Given the description of an element on the screen output the (x, y) to click on. 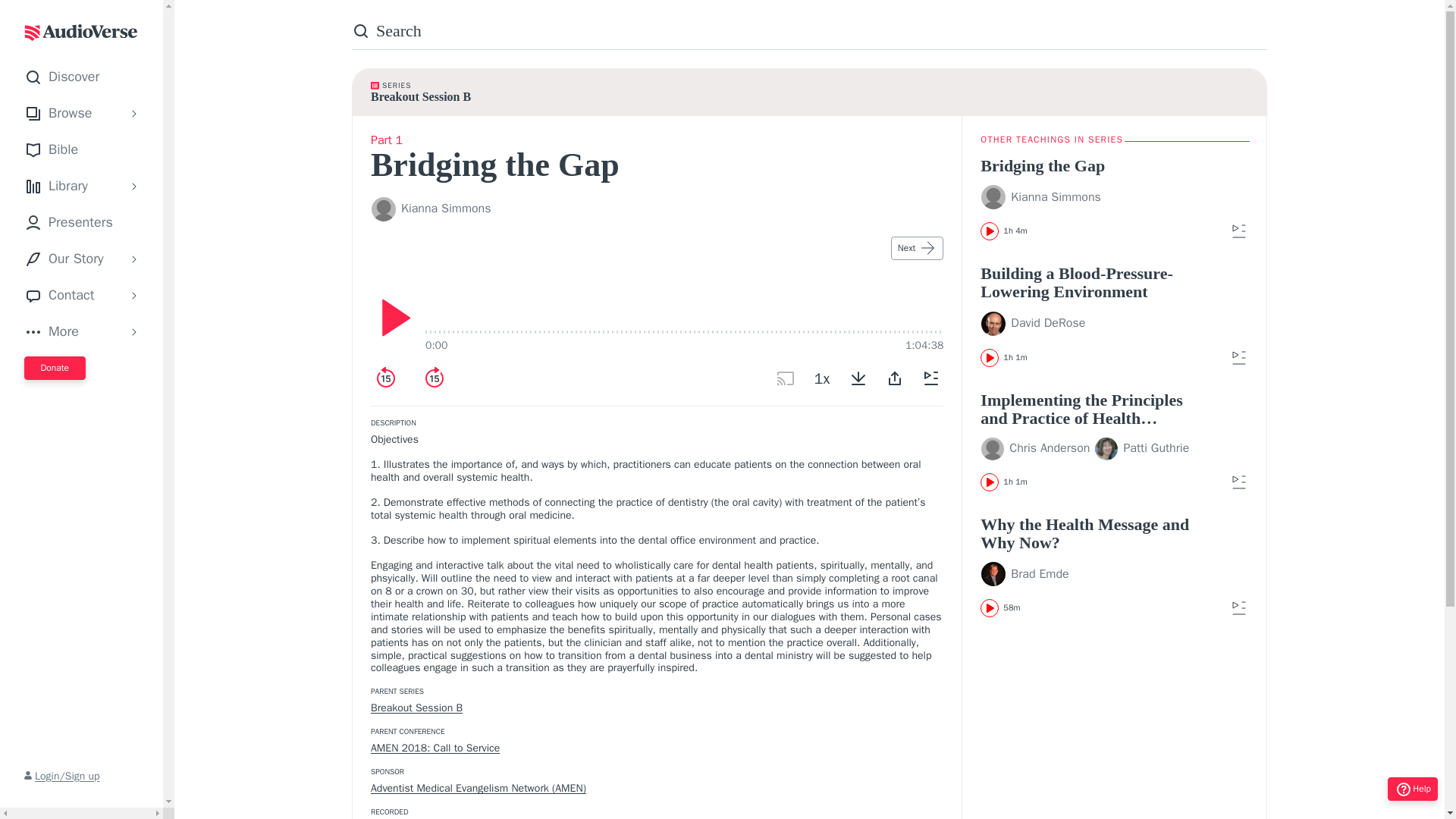
Browse (71, 113)
Our Story (71, 259)
downloads (857, 378)
Presenters (85, 222)
play (392, 317)
Add to playlist (1238, 357)
Add to playlist (1238, 231)
Bible (85, 149)
chromeCast (785, 378)
share (894, 378)
Add to playlist (930, 378)
back 15 seconds (386, 378)
forward 15 seconds (434, 378)
Add to playlist (1238, 482)
More (71, 331)
